Given the description of an element on the screen output the (x, y) to click on. 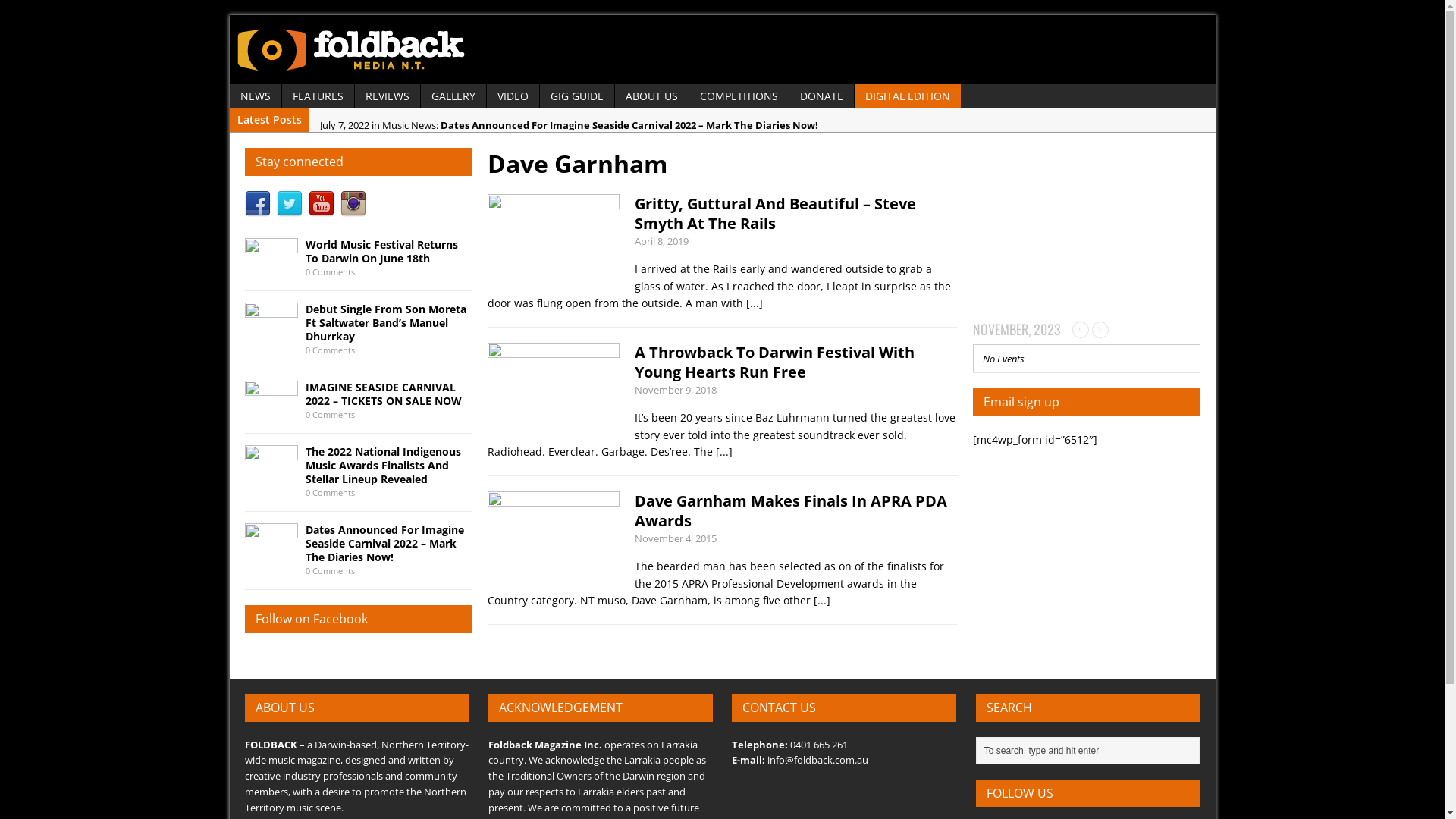
World Music Festival Returns To Darwin On June 18th Element type: hover (270, 268)
VIDEO Element type: text (512, 96)
[...] Element type: text (820, 600)
DONATE Element type: text (820, 96)
[...] Element type: text (754, 302)
NEWS Element type: text (254, 96)
REVIEWS Element type: text (387, 96)
GALLERY Element type: text (452, 96)
FEATURES Element type: text (318, 96)
ABOUT US Element type: text (650, 96)
A Throwback To Darwin Festival With Young Hearts Run Free Element type: text (773, 362)
Dave Garnham Makes Finals In APRA PDA Awards Element type: text (789, 510)
GIG GUIDE Element type: text (576, 96)
DIGITAL EDITION Element type: text (906, 96)
FOLDBACK Media NT Element type: hover (721, 49)
[...] Element type: text (723, 451)
World Music Festival Returns To Darwin On June 18th Element type: text (380, 251)
COMPETITIONS Element type: text (737, 96)
